Given the description of an element on the screen output the (x, y) to click on. 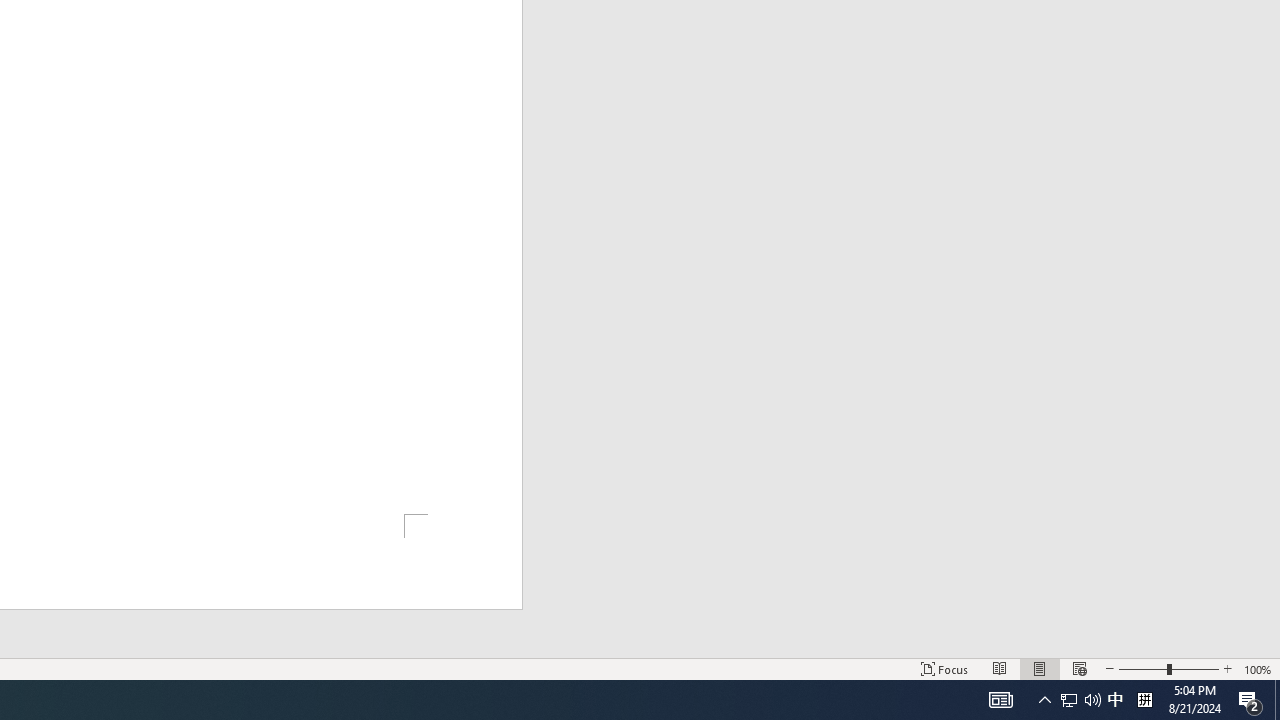
Zoom 100% (1258, 668)
